Given the description of an element on the screen output the (x, y) to click on. 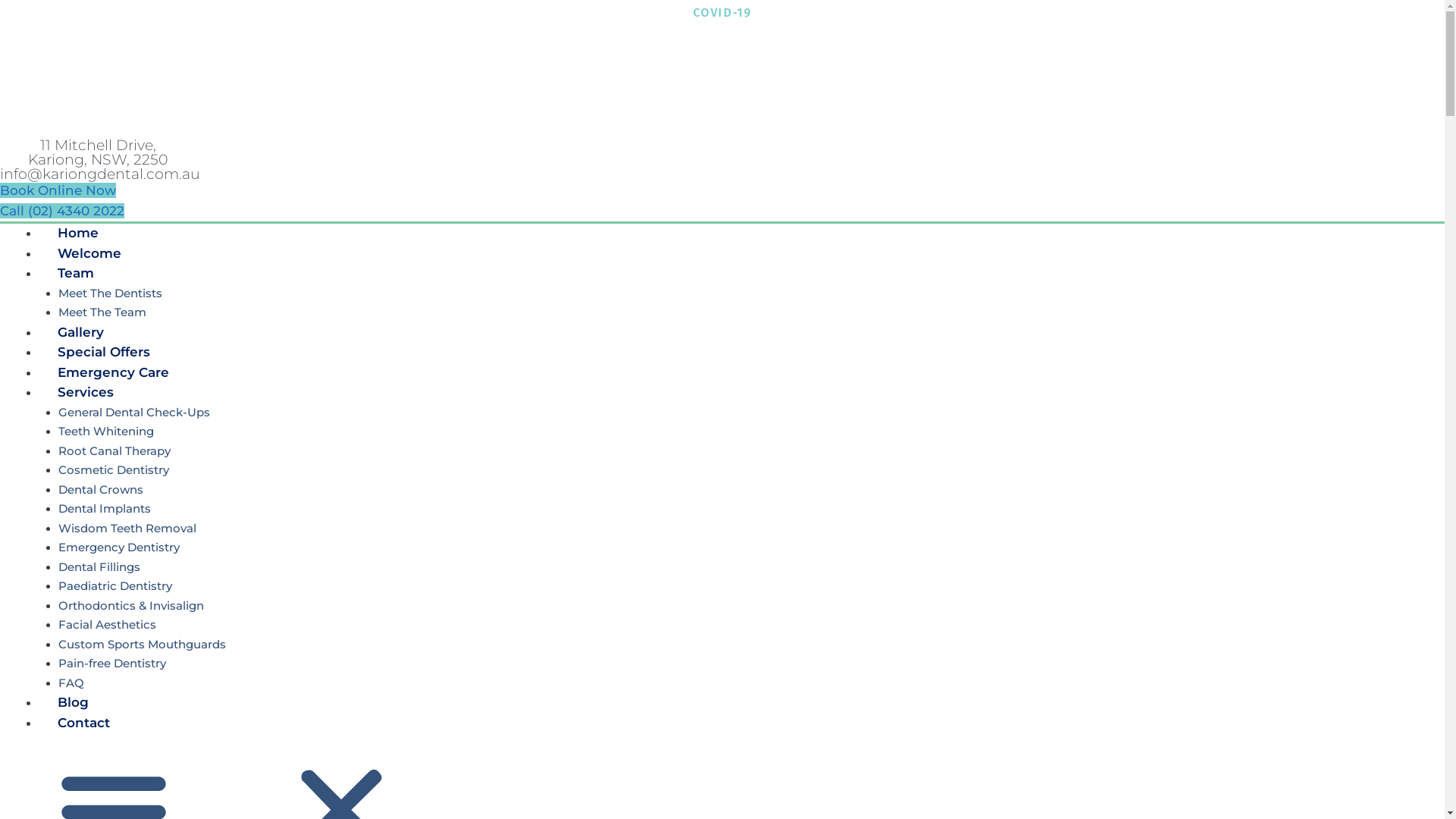
Home Element type: text (77, 232)
FAQ Element type: text (70, 681)
Services Element type: text (85, 391)
Book Online Now Element type: text (58, 189)
Blog Element type: text (72, 701)
Dental Crowns Element type: text (99, 489)
Custom Sports Mouthguards Element type: text (141, 644)
Team Element type: text (75, 272)
info@kariongdental.com.au Element type: text (100, 173)
Paediatric Dentistry Element type: text (114, 585)
Orthodontics & Invisalign Element type: text (130, 604)
Facial Aesthetics Element type: text (106, 624)
Special Offers Element type: text (103, 351)
Gallery Element type: text (80, 331)
Emergency Dentistry Element type: text (117, 546)
Dental Implants Element type: text (103, 508)
Cosmetic Dentistry Element type: text (112, 469)
Call (02) 4340 2022 Element type: text (62, 210)
Root Canal Therapy Element type: text (113, 449)
COVID-19 Element type: text (722, 12)
Welcome Element type: text (89, 252)
Meet The Dentists Element type: text (109, 292)
General Dental Check-Ups Element type: text (133, 411)
Teeth Whitening Element type: text (105, 430)
Kariong_Dental_Logo_web Element type: hover (136, 81)
Emergency Care Element type: text (113, 371)
Pain-free Dentistry Element type: text (111, 662)
Contact Element type: text (83, 721)
Meet The Team Element type: text (101, 311)
Dental Fillings Element type: text (98, 566)
Wisdom Teeth Removal Element type: text (126, 527)
